Given the description of an element on the screen output the (x, y) to click on. 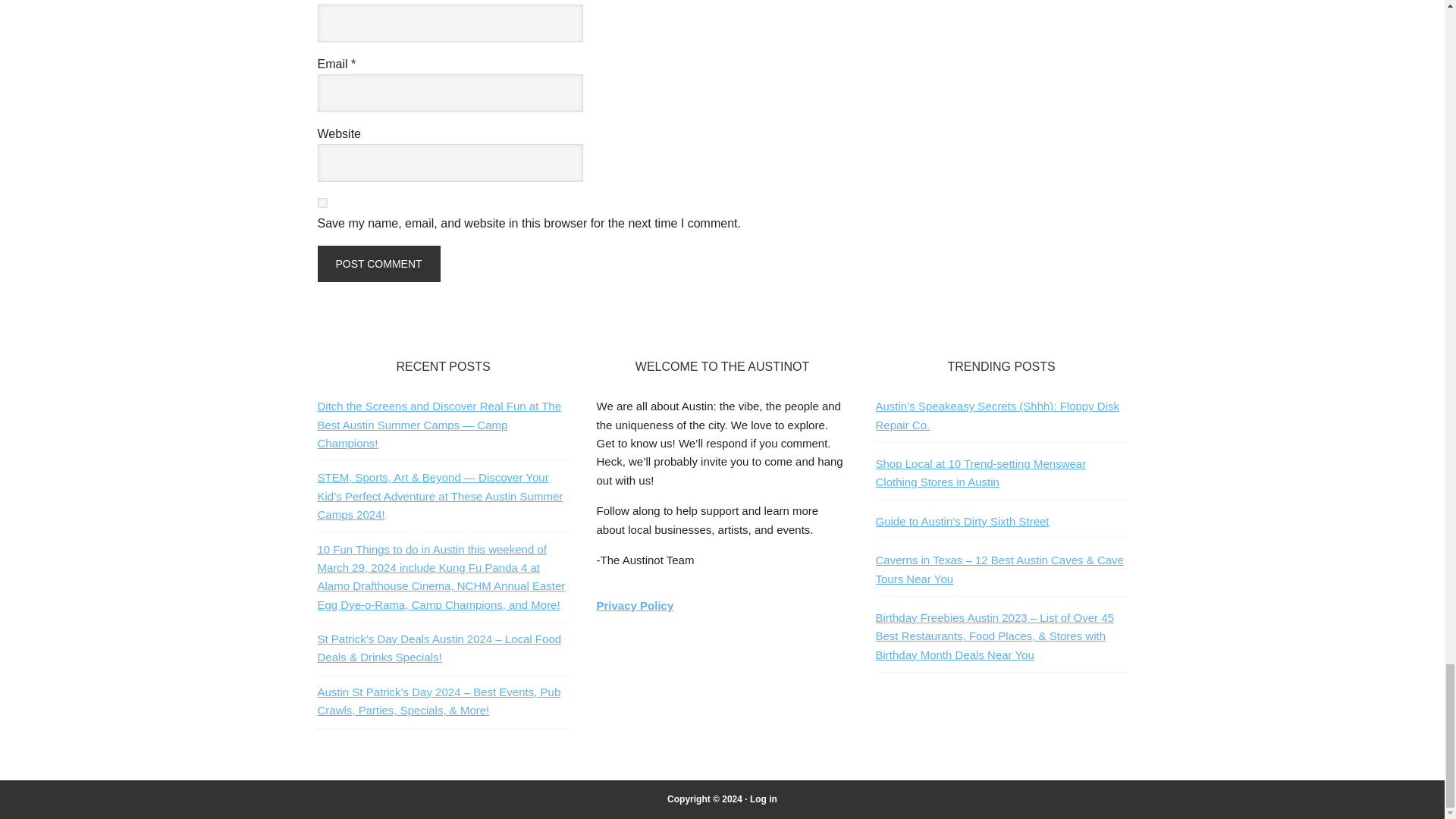
yes (321, 203)
Post Comment (378, 263)
